Given the description of an element on the screen output the (x, y) to click on. 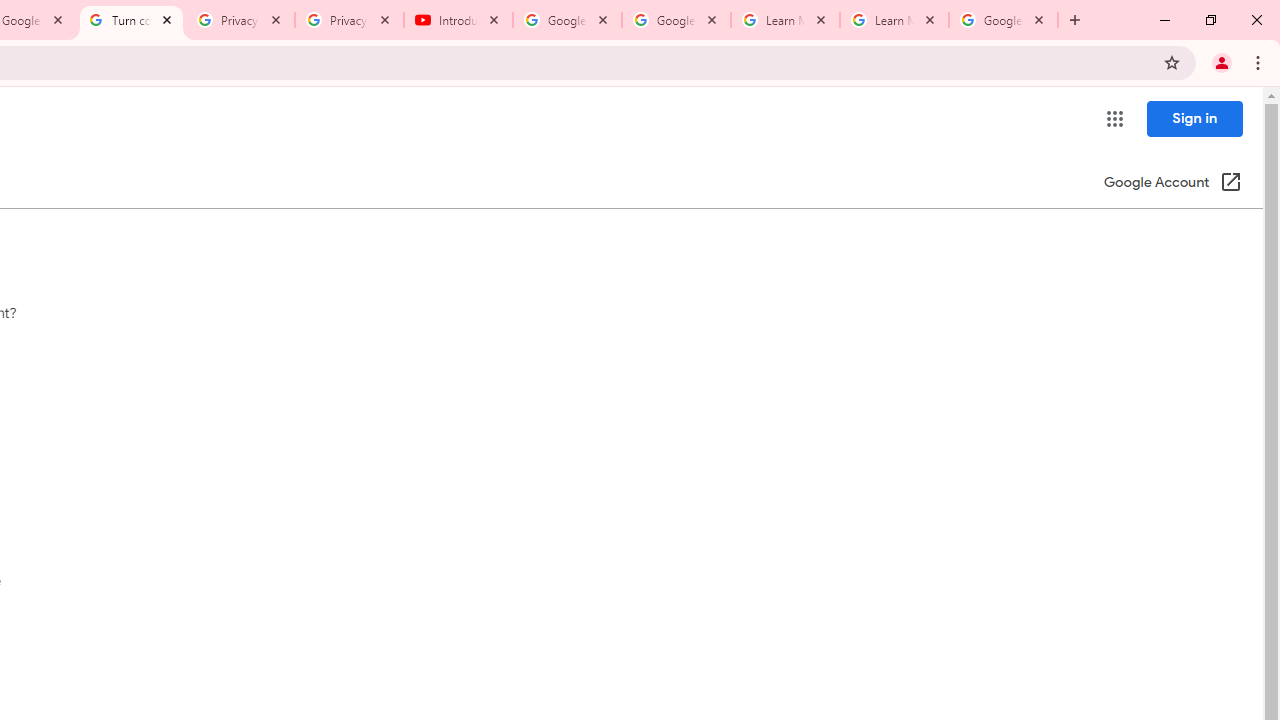
Google Account Help (567, 20)
Google Account (1003, 20)
Google Account Help (676, 20)
Introduction | Google Privacy Policy - YouTube (458, 20)
